Given the description of an element on the screen output the (x, y) to click on. 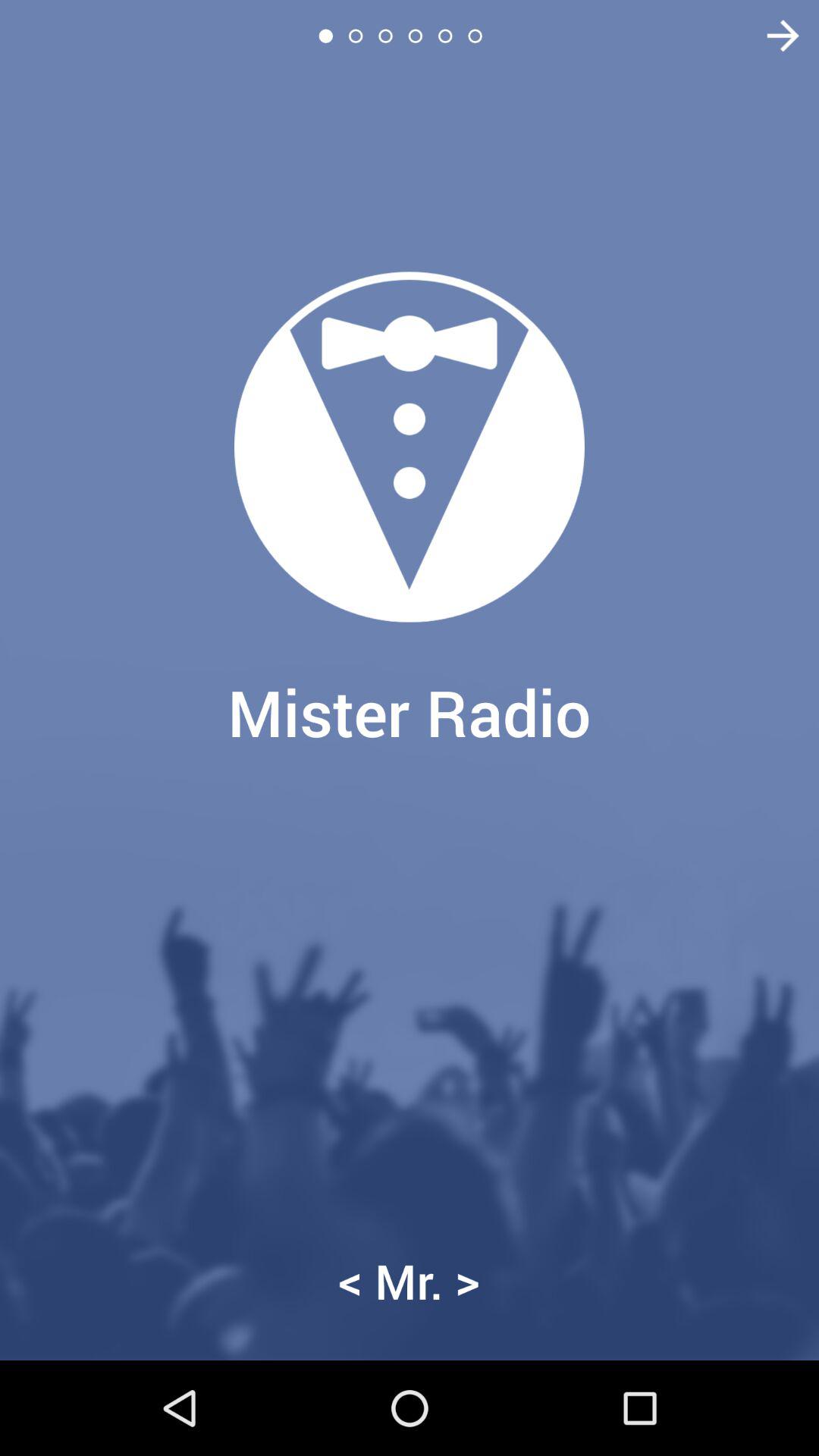
turn off item at the top right corner (773, 35)
